Given the description of an element on the screen output the (x, y) to click on. 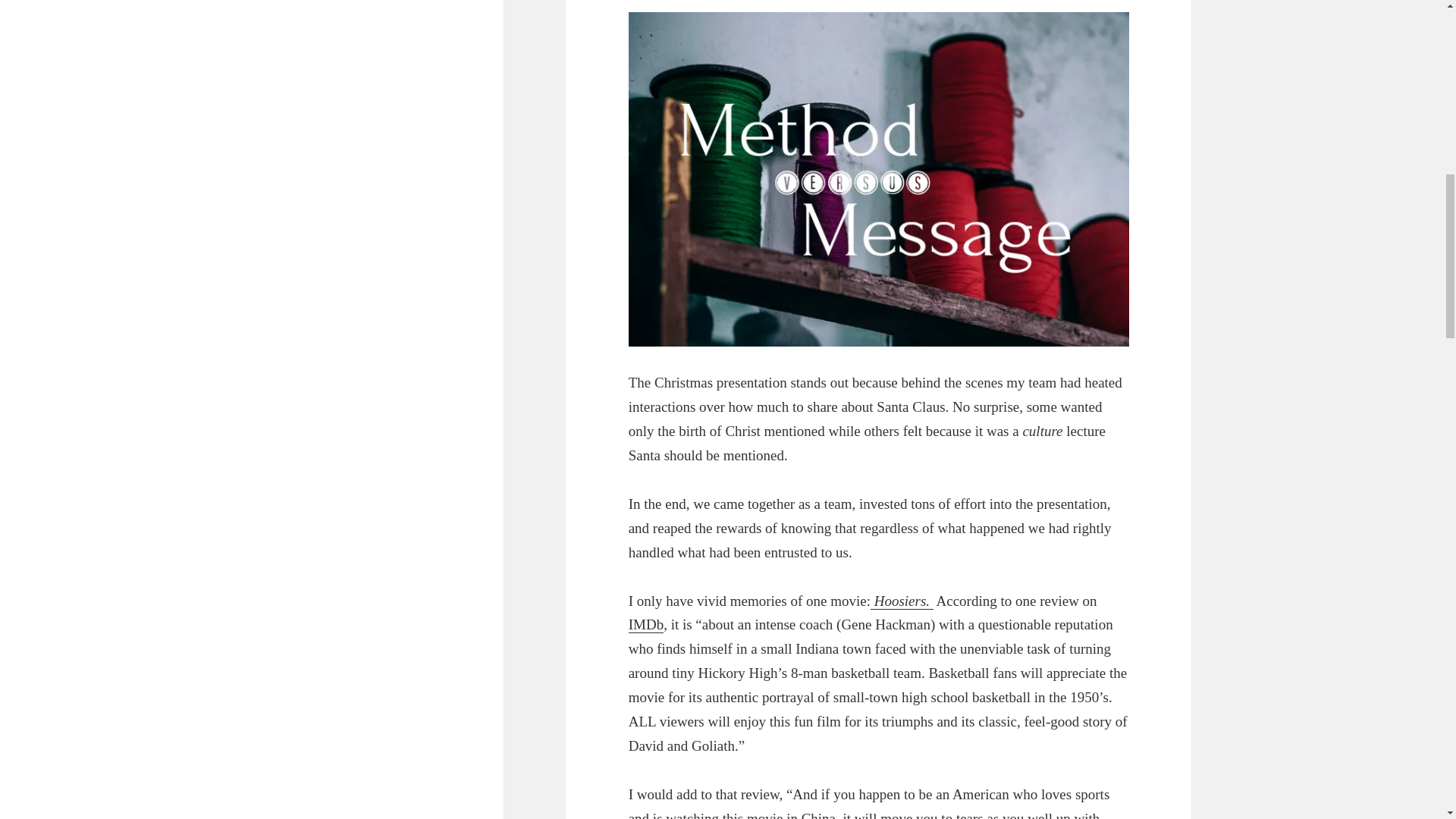
 Hoosiers.  (901, 600)
IMDb (645, 624)
